Given the description of an element on the screen output the (x, y) to click on. 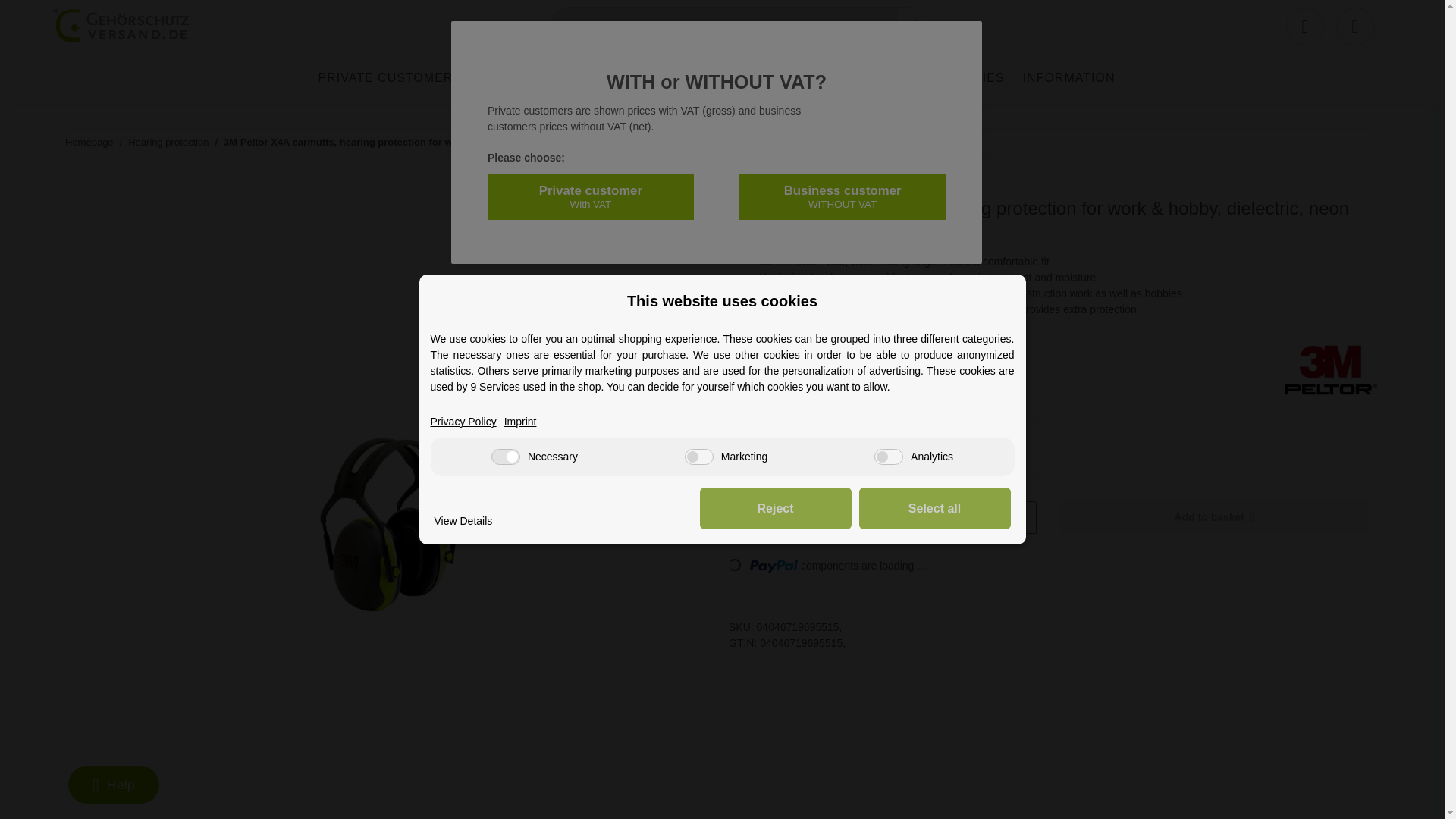
Private customers (389, 77)
1 (856, 517)
on (505, 456)
on (698, 456)
Business customers (557, 77)
Homepage (89, 142)
on (888, 456)
Hearing protection (729, 77)
Information (1068, 77)
